Given the description of an element on the screen output the (x, y) to click on. 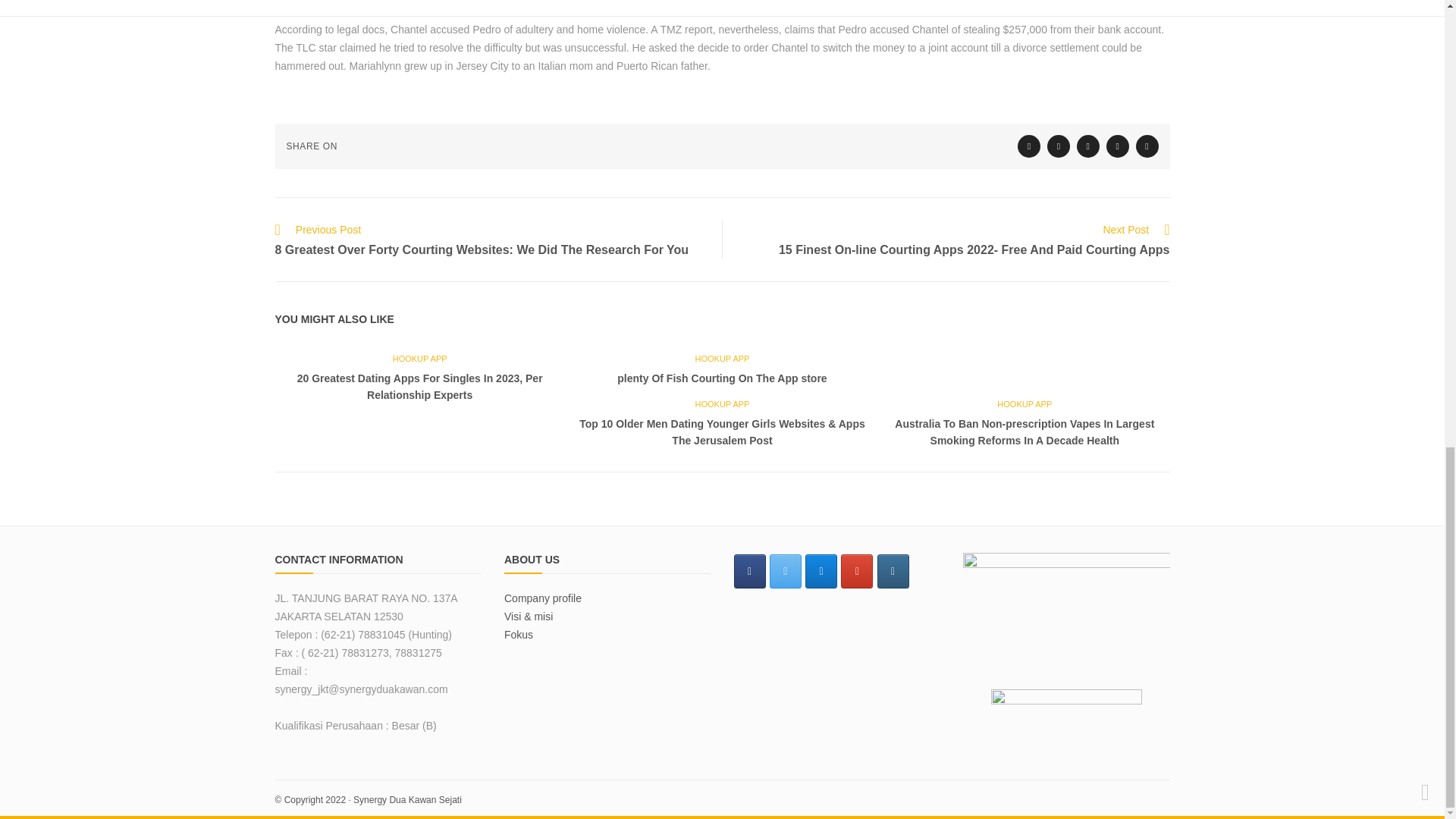
Facebook (1058, 146)
LinkedIn (1117, 146)
Synergy Dua Kawan Sejati on Dropbox (821, 571)
Twitter (1029, 146)
Synergy Dua Kawan Sejati on Twitter (786, 571)
Synergy Dua Kawan Sejati on Facebook (749, 571)
Synergy Dua Kawan Sejati on Instagram (892, 571)
Pinterest (1146, 146)
Synergy Dua Kawan Sejati on Google Plus (856, 571)
